Given the description of an element on the screen output the (x, y) to click on. 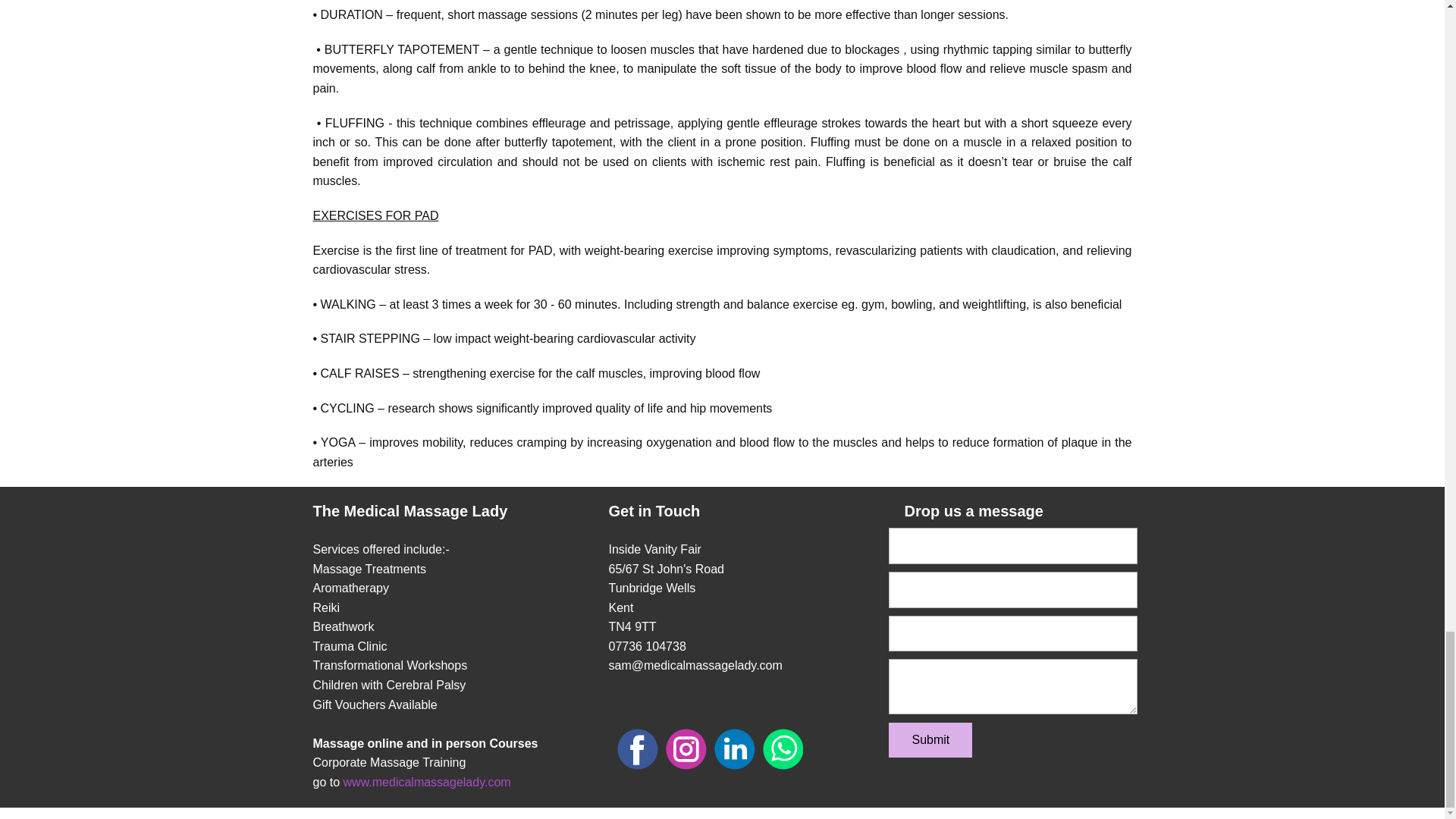
WhatsAPP ME (782, 748)
LinkedIn (734, 748)
instagram (685, 748)
facebook (637, 748)
